Given the description of an element on the screen output the (x, y) to click on. 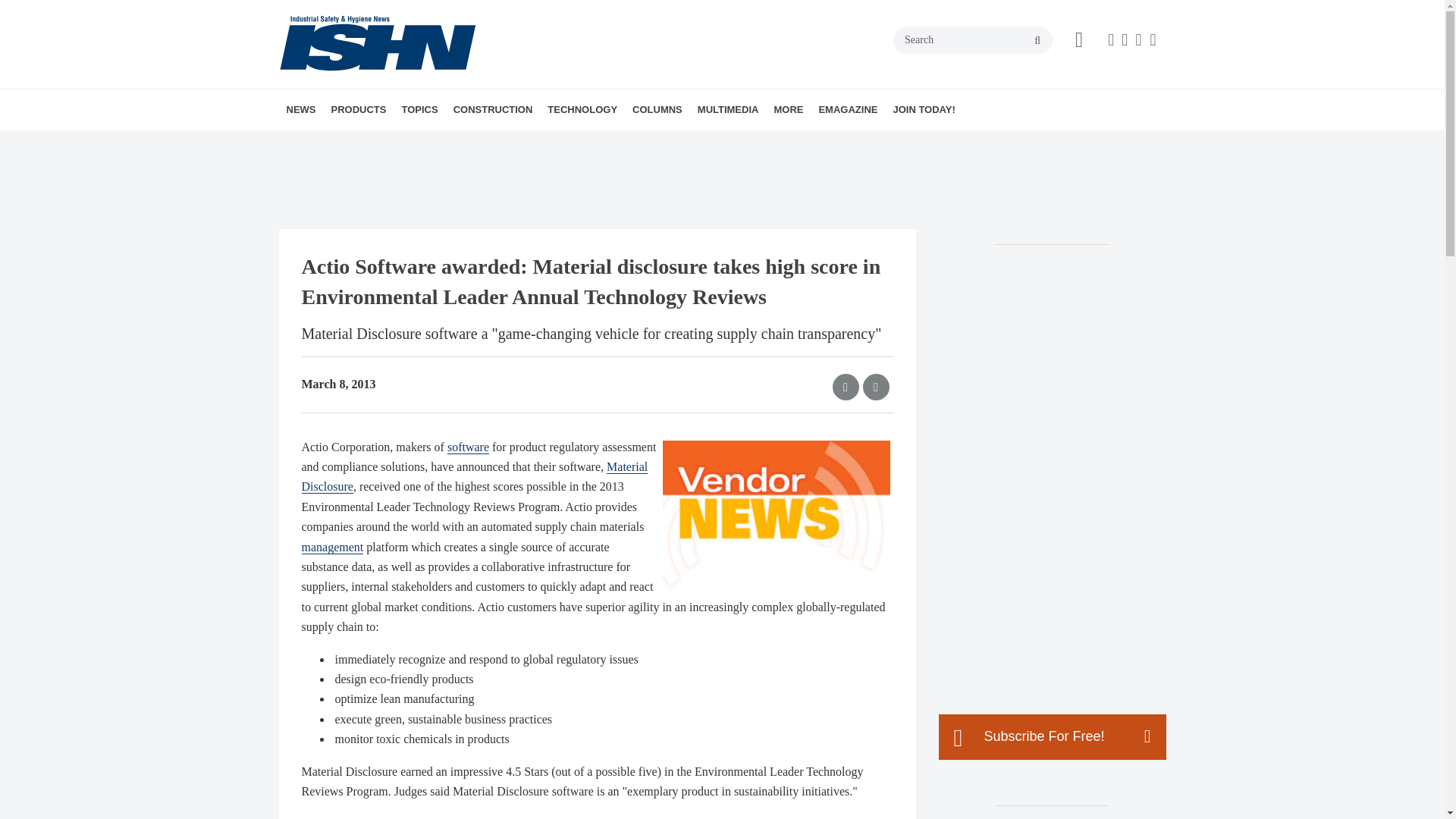
TODAY'S NEWS (373, 142)
GLOBAL SAFETY NEWS (380, 142)
PRODUCTS (358, 109)
search (1037, 40)
Search (972, 40)
FACILITY SAFETY (500, 142)
GOVERNMENT REGULATIONS (504, 142)
MULTIMEDIA (728, 109)
WORKPLACE HEALTH (510, 142)
Search (972, 40)
TOPICS (419, 109)
LEADING SAFETY (740, 142)
FR KNOWLEDGE QUIZ (806, 142)
ENVIRONMENTAL HEALTH AND SAFETY (488, 151)
ISHN PODCAST (784, 142)
